Given the description of an element on the screen output the (x, y) to click on. 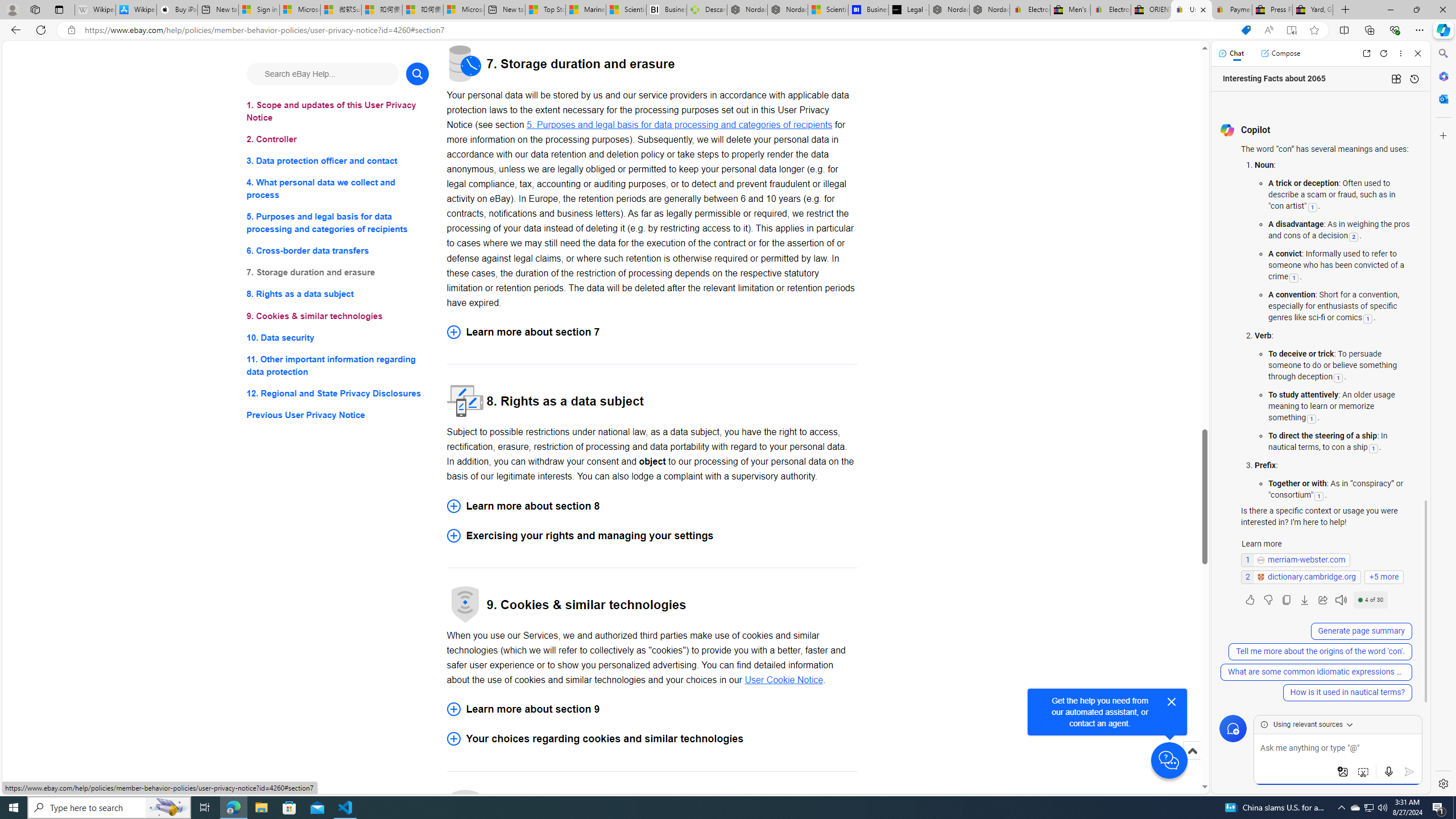
Search eBay Help... (322, 73)
1. Scope and updates of this User Privacy Notice (337, 111)
8. Rights as a data subject (337, 293)
Electronics, Cars, Fashion, Collectibles & More | eBay (1110, 9)
8. Rights as a data subject (337, 293)
Exercising your rights and managing your settings (651, 535)
